Given the description of an element on the screen output the (x, y) to click on. 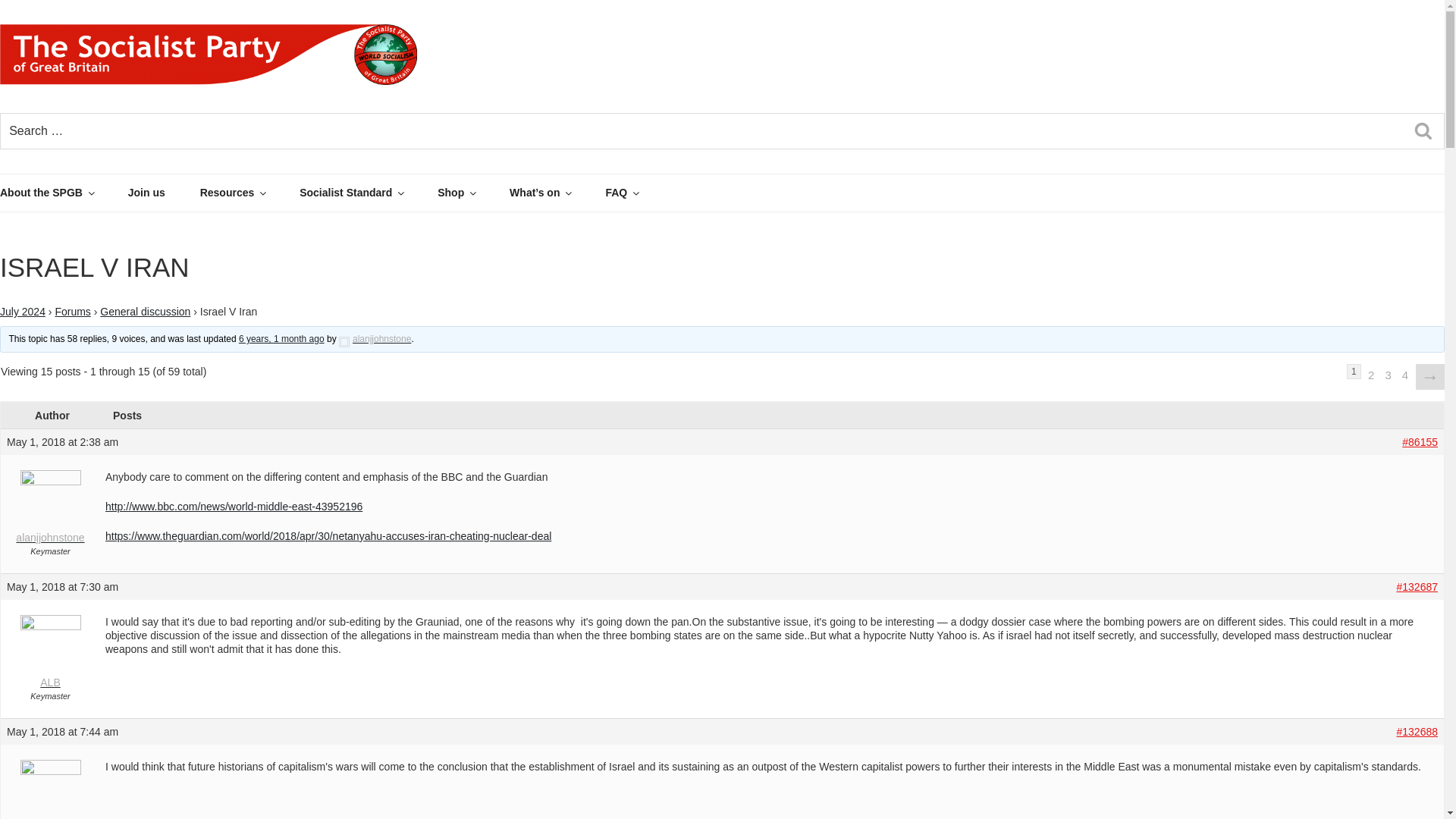
About the SPGB (62, 192)
Search (1423, 131)
View ALB's profile (50, 791)
View alanjjohnstone's profile (50, 509)
Resources (248, 192)
Gonen Segev, former energy (281, 338)
Join us (162, 192)
View alanjjohnstone's profile (374, 338)
View ALB's profile (50, 654)
